Given the description of an element on the screen output the (x, y) to click on. 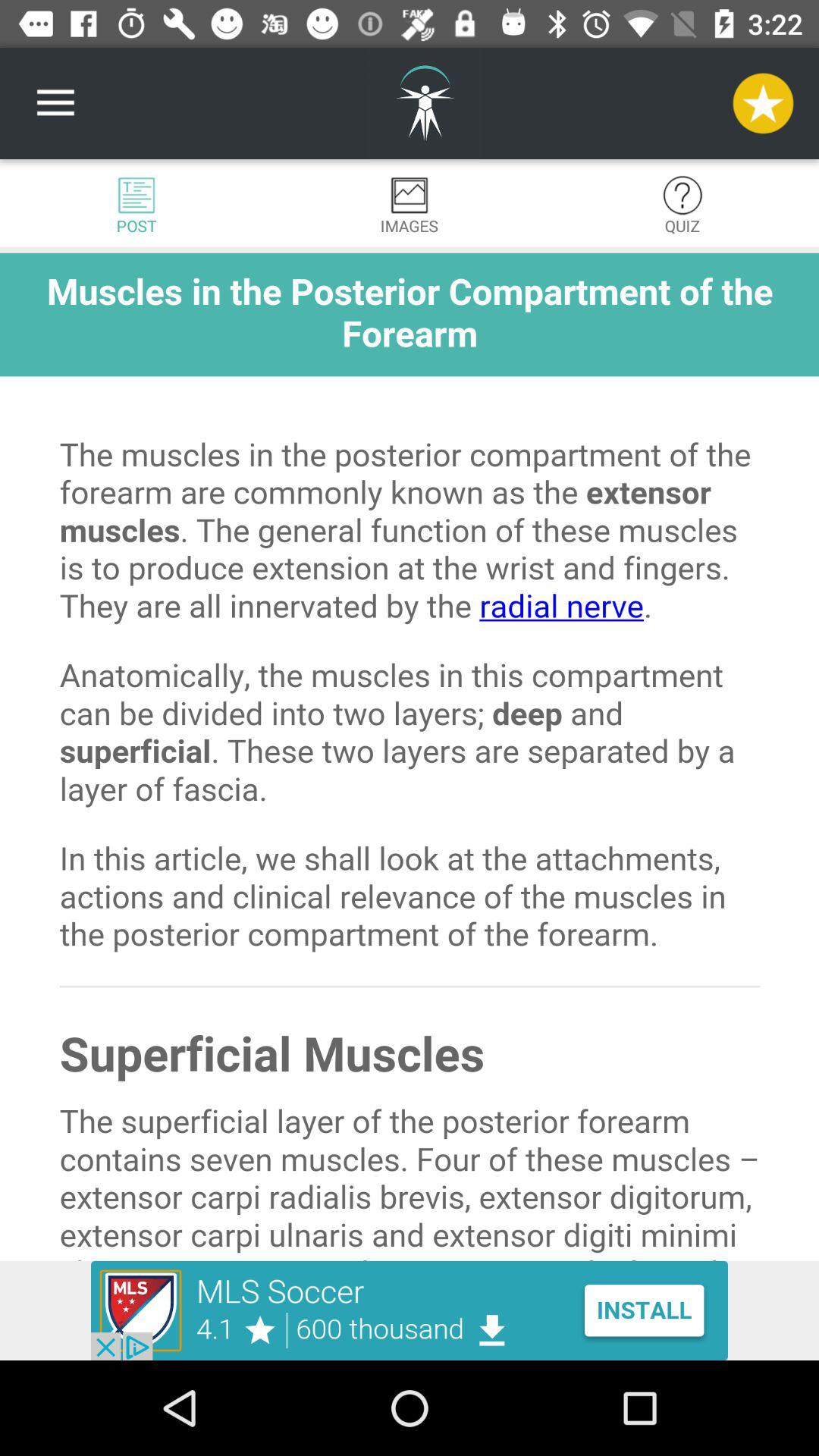
clickable advertisement (409, 1310)
